Given the description of an element on the screen output the (x, y) to click on. 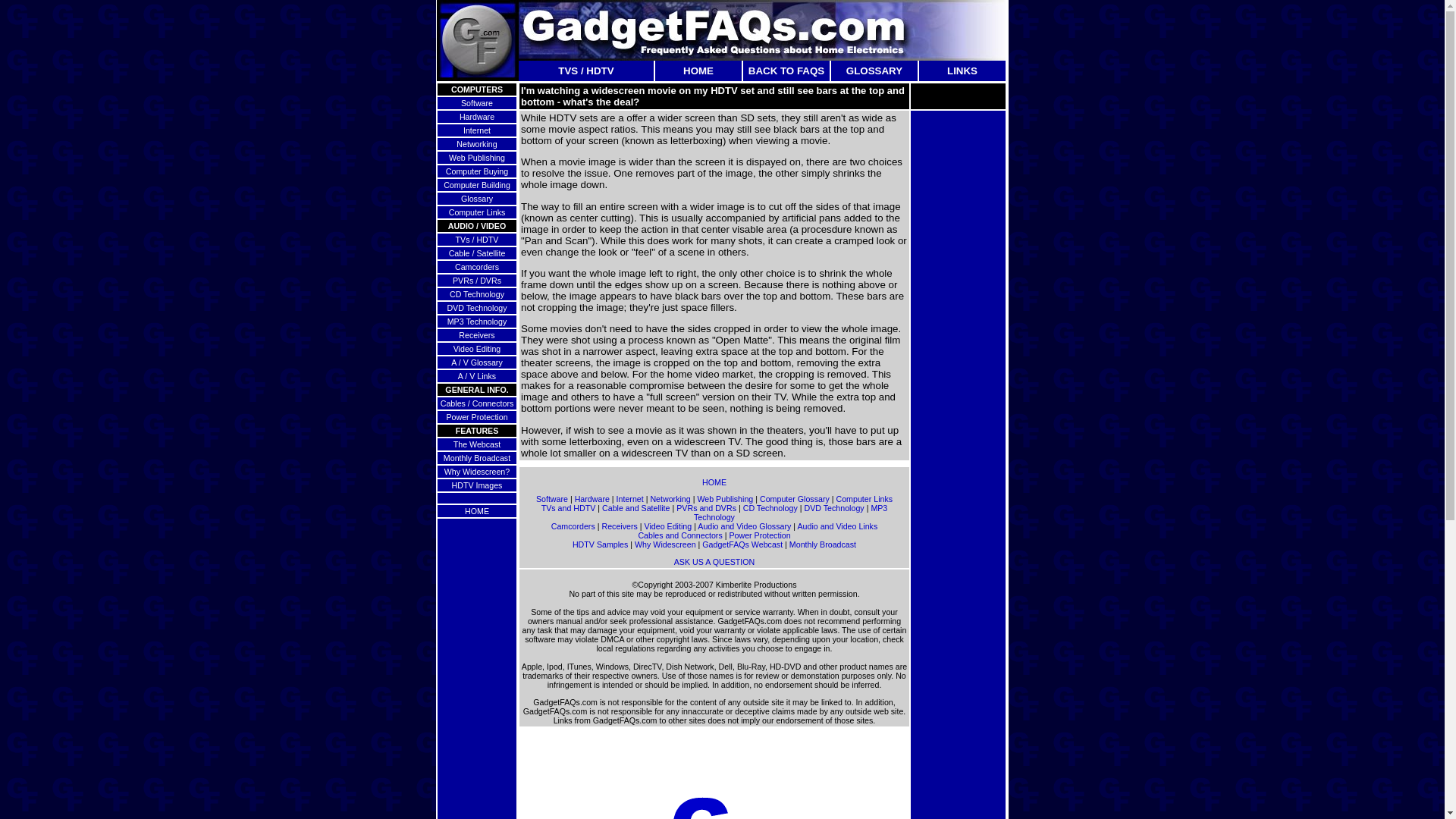
Glossary (477, 198)
GLOSSARY (873, 70)
Click here for information about MP3 technology. (476, 320)
Click here for Internet information. (476, 130)
Computer Glossary (794, 498)
Software (477, 102)
Computer Buying (476, 171)
Hardware (477, 116)
Click here for software information. (477, 102)
HOME (697, 70)
